Given the description of an element on the screen output the (x, y) to click on. 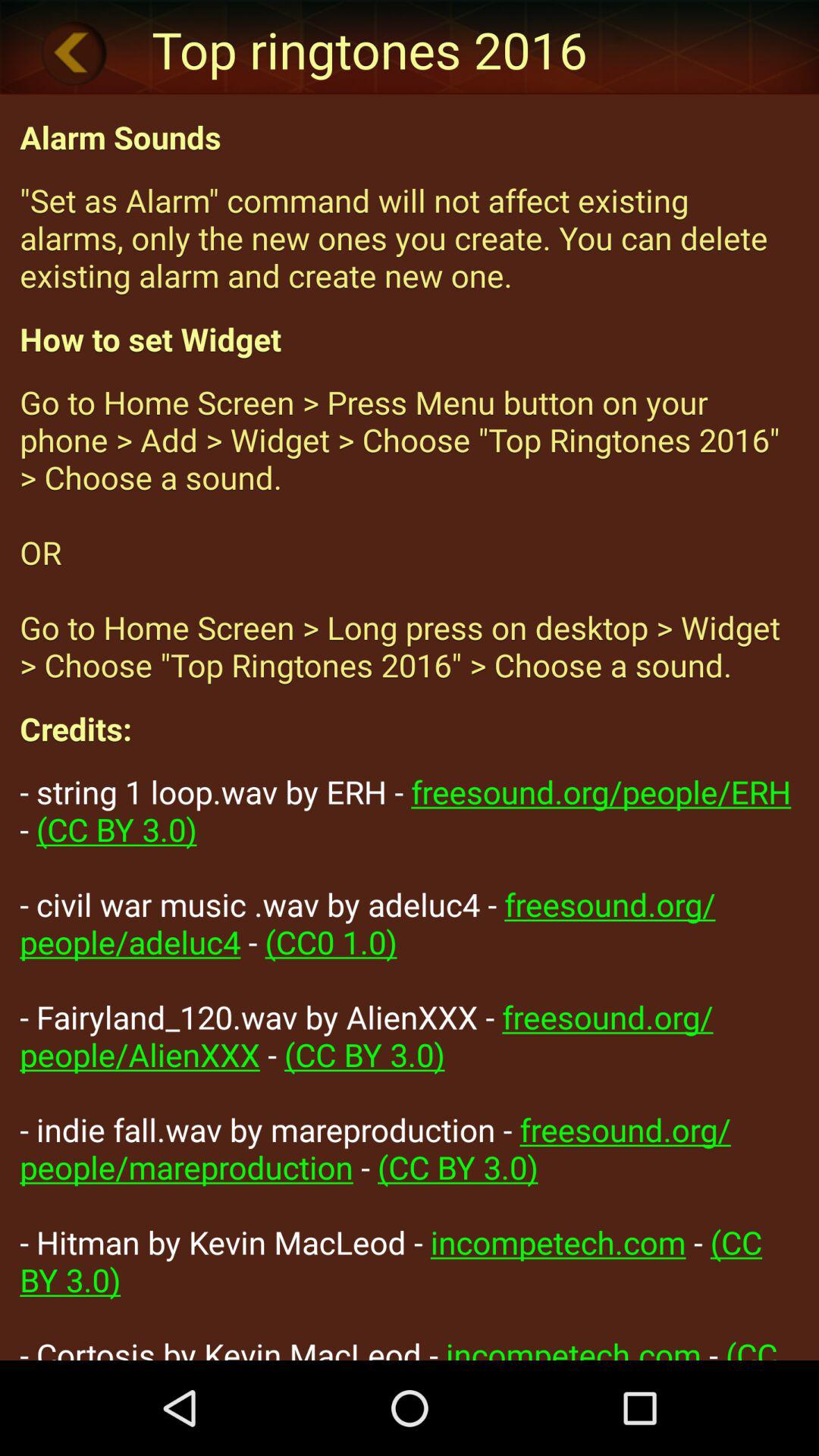
click button at the top left corner (73, 52)
